Given the description of an element on the screen output the (x, y) to click on. 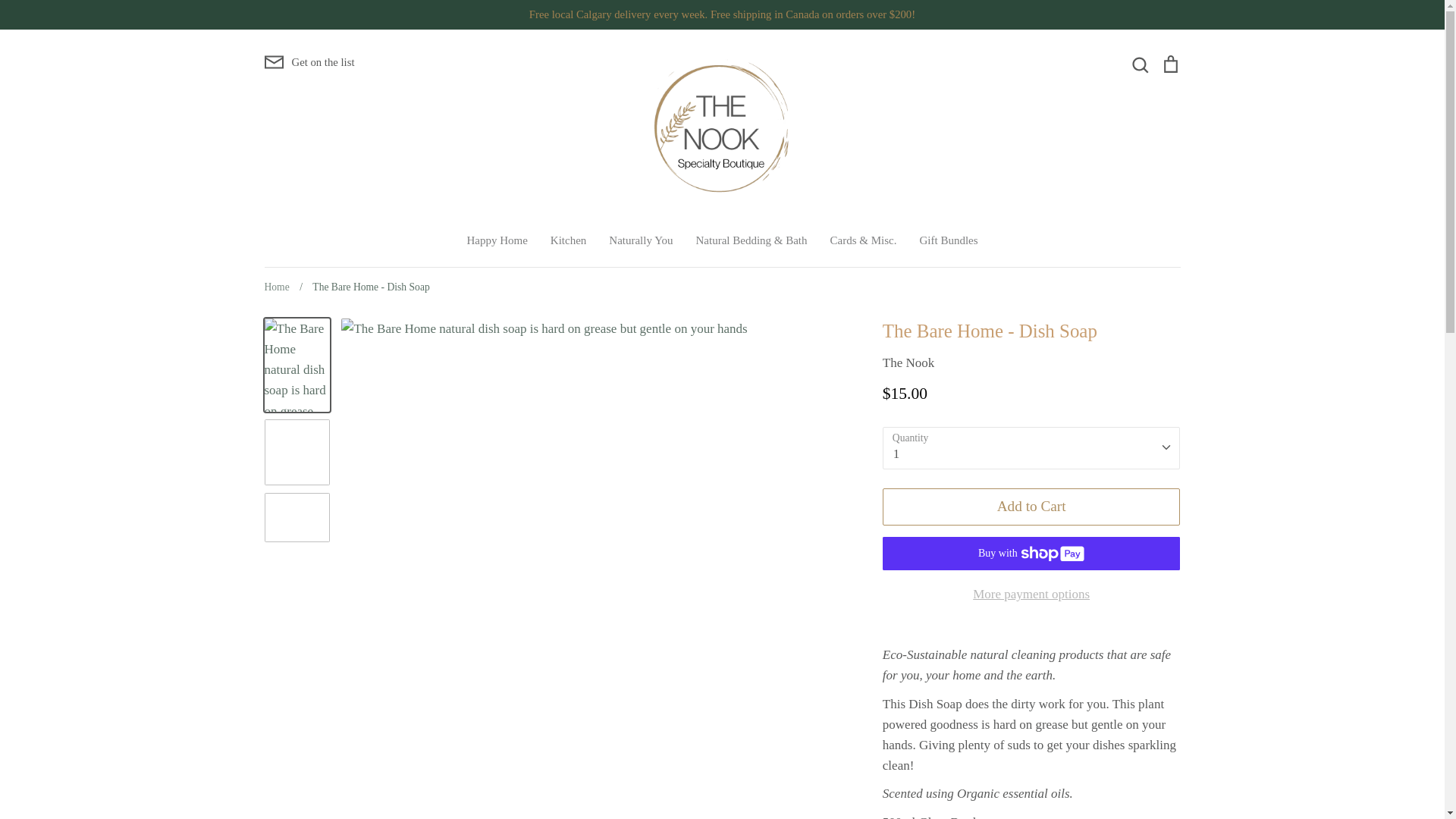
Happy Home (496, 240)
Cart (1169, 63)
Naturally You (640, 240)
1 (1031, 446)
Kitchen (568, 240)
Get on the list (308, 62)
Search (1139, 63)
